Given the description of an element on the screen output the (x, y) to click on. 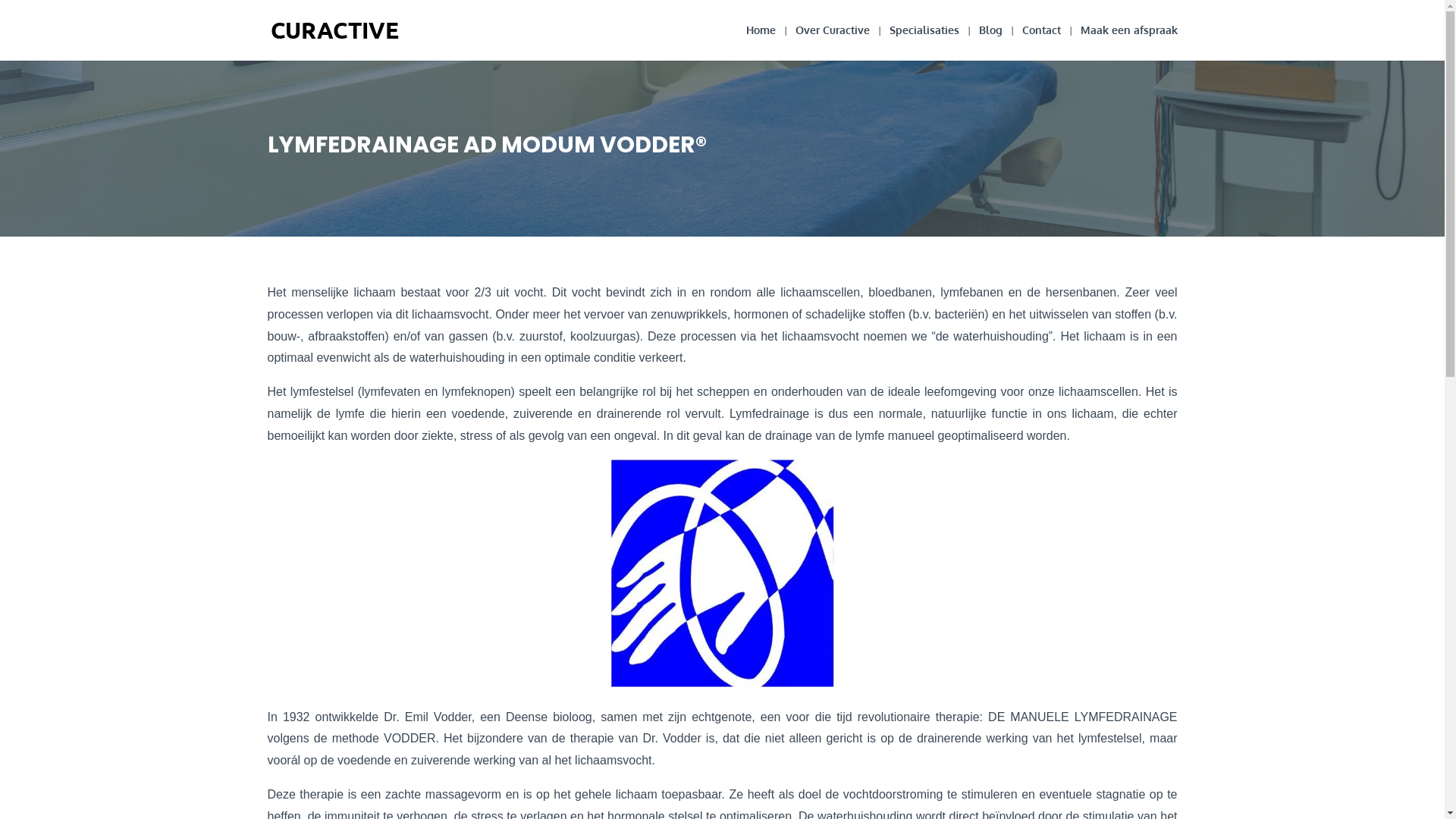
Contact Element type: text (1041, 42)
Specialisaties Element type: text (923, 42)
Maak een afspraak Element type: text (1127, 42)
Blog Element type: text (989, 42)
Over Curactive Element type: text (831, 42)
CURACTIVE Element type: text (334, 28)
Home Element type: text (760, 42)
